Given the description of an element on the screen output the (x, y) to click on. 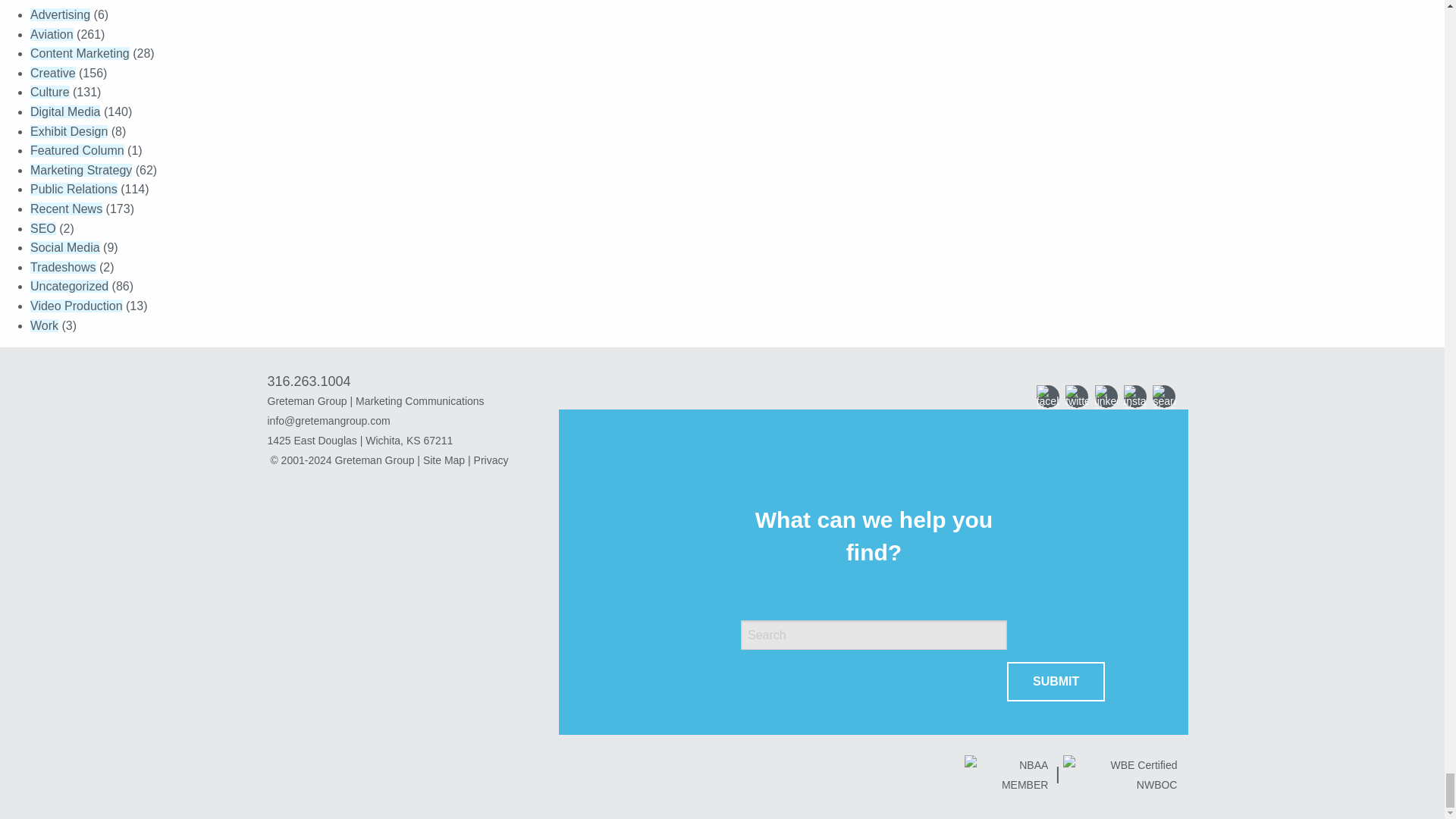
Link to Privacy Policy of Website (491, 460)
Click to open Search for Greteman Group website (1163, 395)
Link to Greteman Group on Facebook (1048, 395)
Link to WBE Certified (1119, 775)
Click to Call Greteman Group (308, 381)
Link to Greteman Group on Linkedin (1106, 395)
Link to Greteman Group on Twitter (1076, 395)
Submit (1056, 681)
Link to NBAA.org (1007, 775)
Click to visit Greteman Group on Google Maps (418, 440)
Link to Site Map (443, 460)
Click to email Greteman Group (418, 420)
Link to Greteman Group on Instagram (1135, 395)
